Given the description of an element on the screen output the (x, y) to click on. 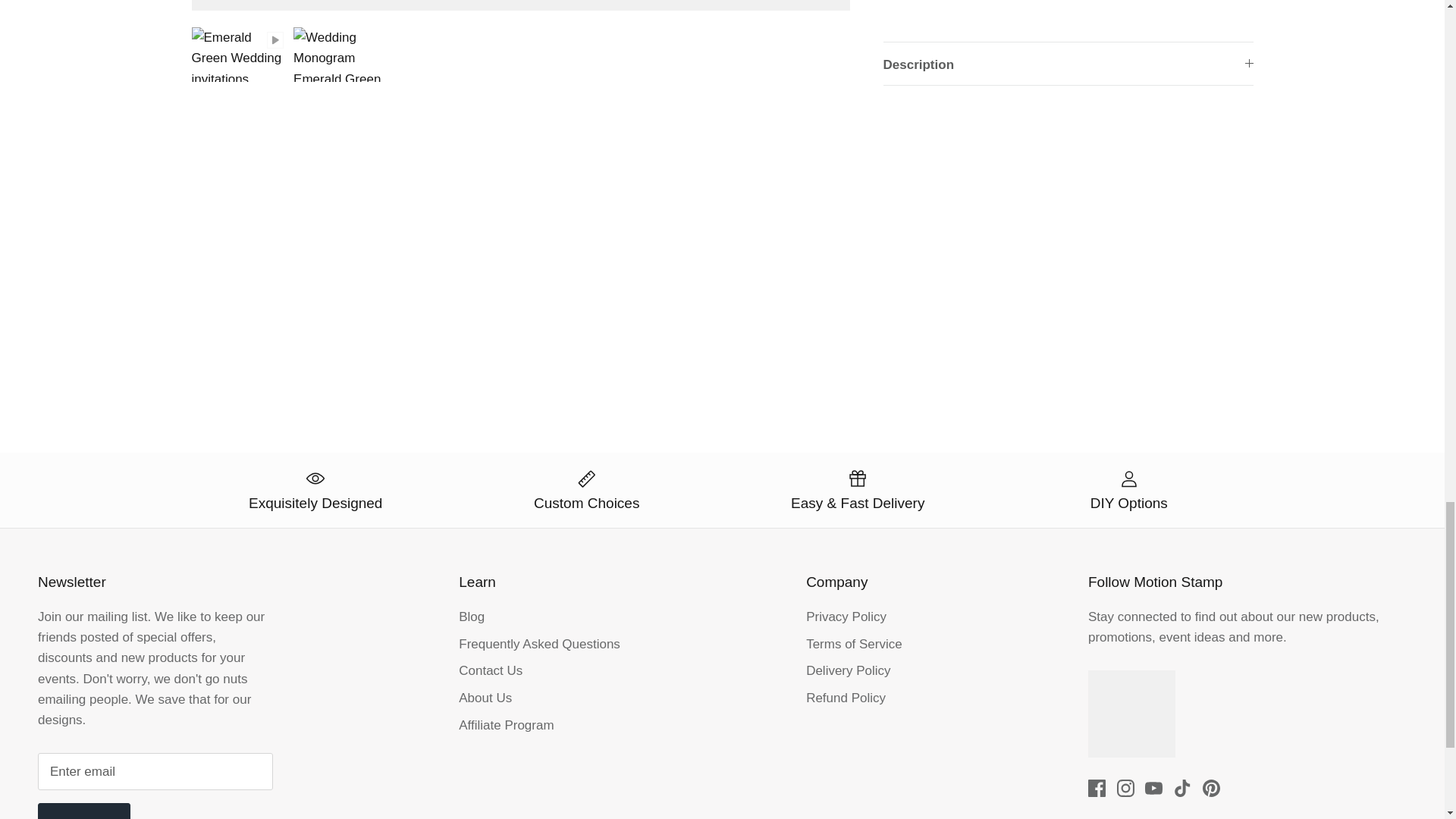
Facebook (1096, 787)
Instagram (1125, 787)
Youtube (1152, 787)
